Given the description of an element on the screen output the (x, y) to click on. 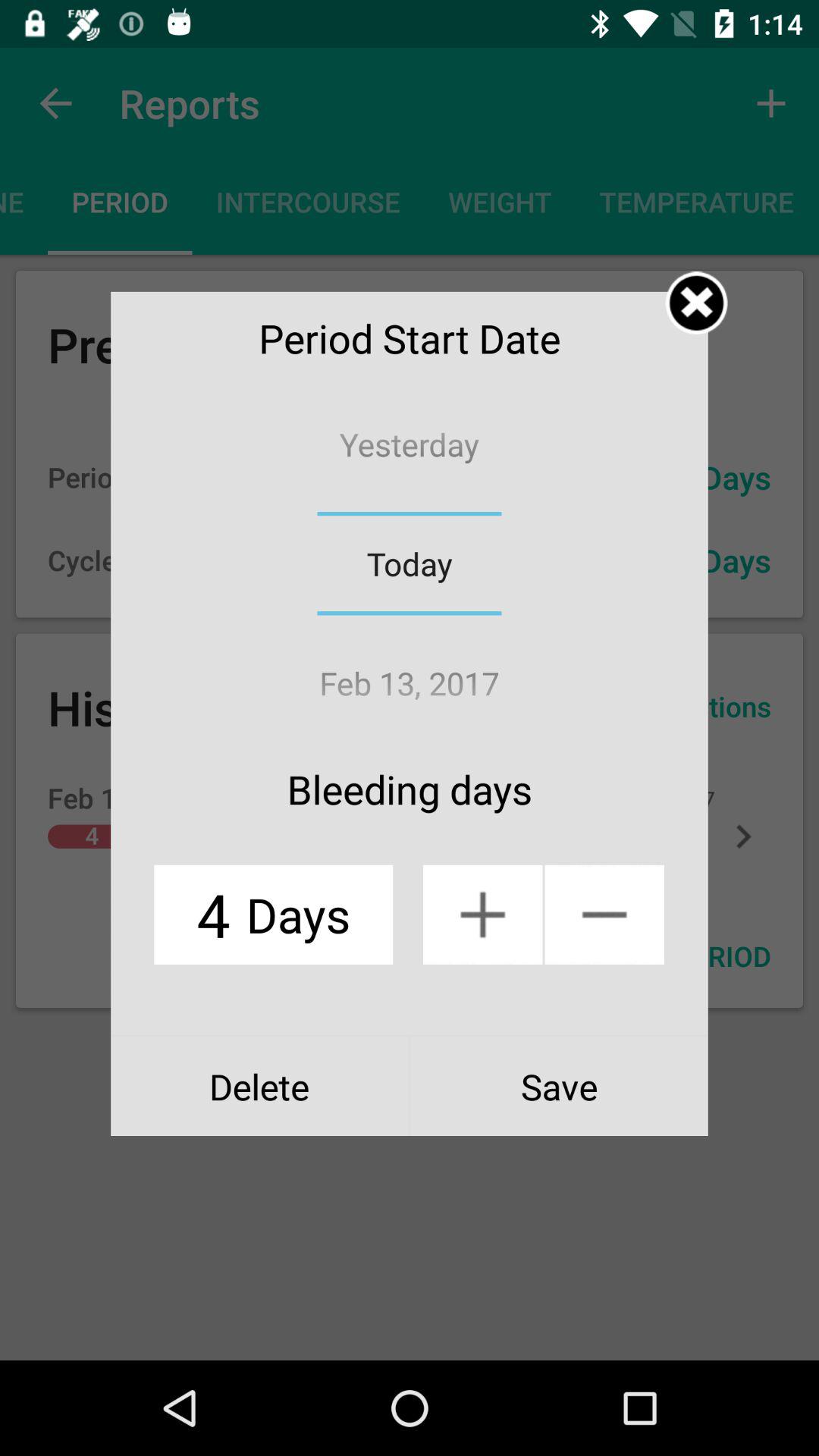
next day (482, 914)
